Given the description of an element on the screen output the (x, y) to click on. 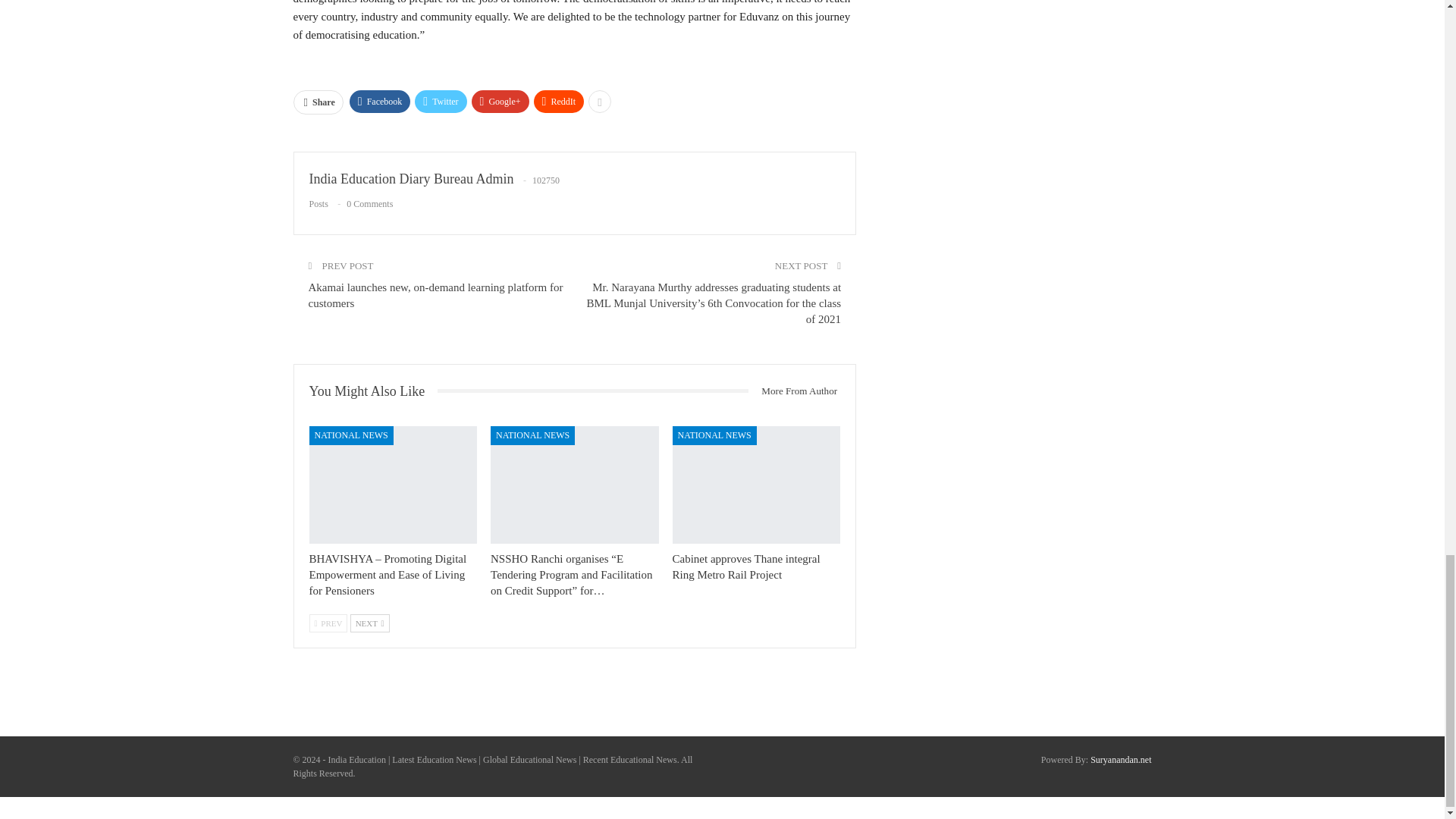
Cabinet approves Thane integral Ring Metro Rail Project (756, 484)
Next (370, 623)
Cabinet approves Thane integral Ring Metro Rail Project (746, 566)
Previous (327, 623)
